Given the description of an element on the screen output the (x, y) to click on. 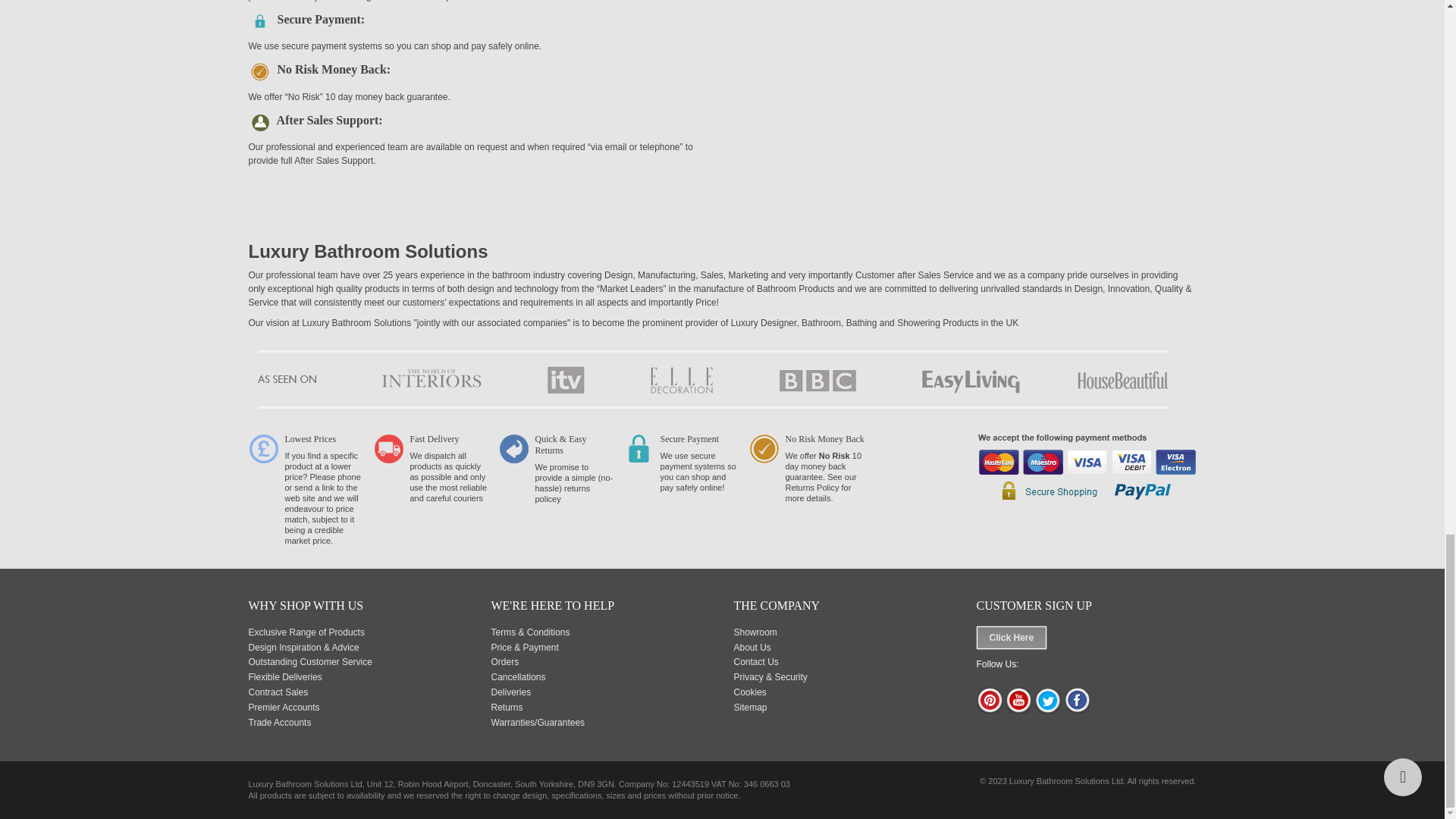
Follow Luxury Bathroom Solutions on YouTube (1019, 710)
Follow Luxury Bathroom Solutions on Pinterest (989, 710)
